Given the description of an element on the screen output the (x, y) to click on. 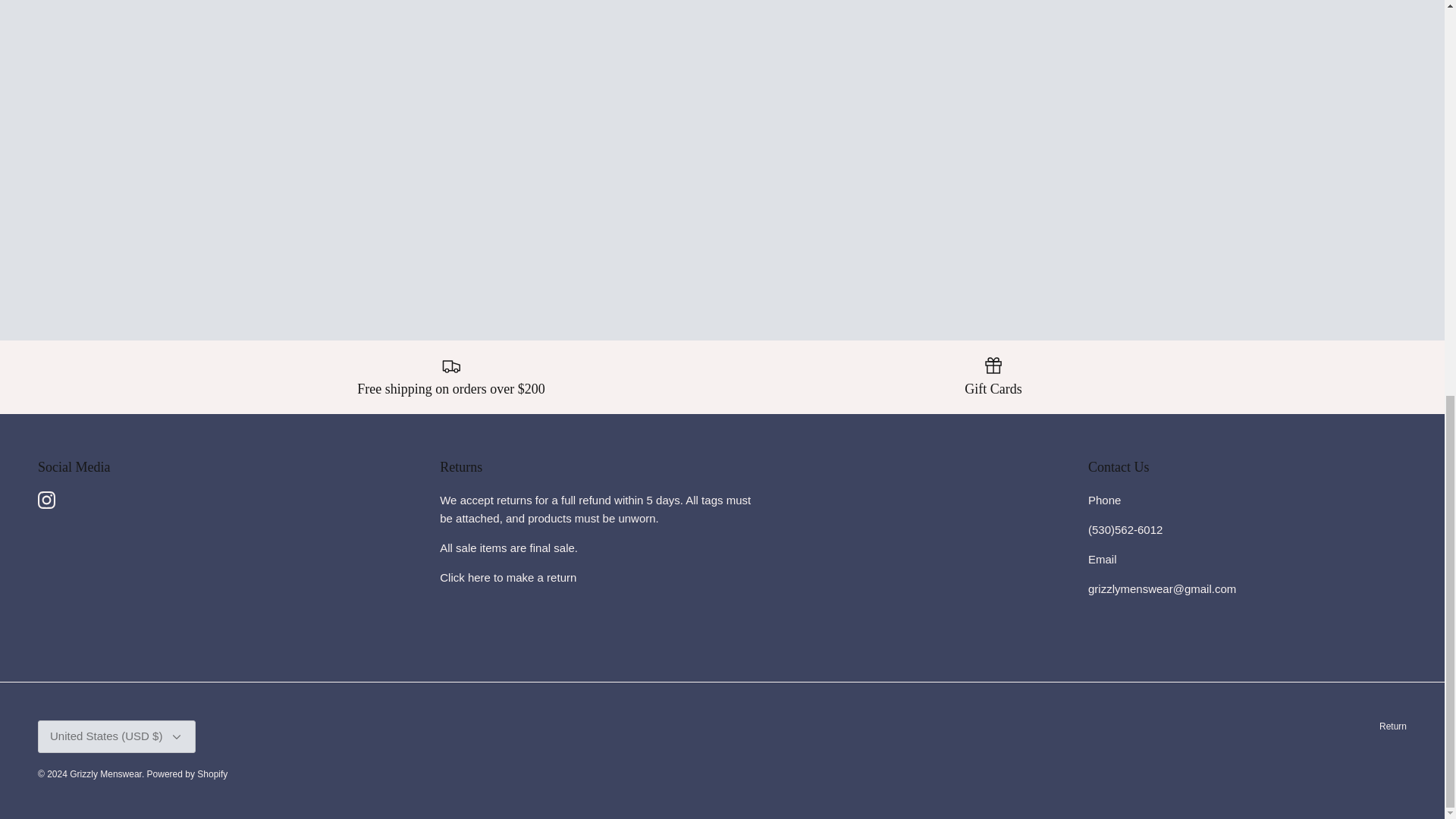
Down (176, 736)
Instagram (46, 499)
Gift Cards (993, 376)
Return (1392, 726)
Grizzly Menswear (105, 774)
Powered by Shopify (187, 774)
Instagram (46, 499)
Click here to make a return (507, 576)
